Given the description of an element on the screen output the (x, y) to click on. 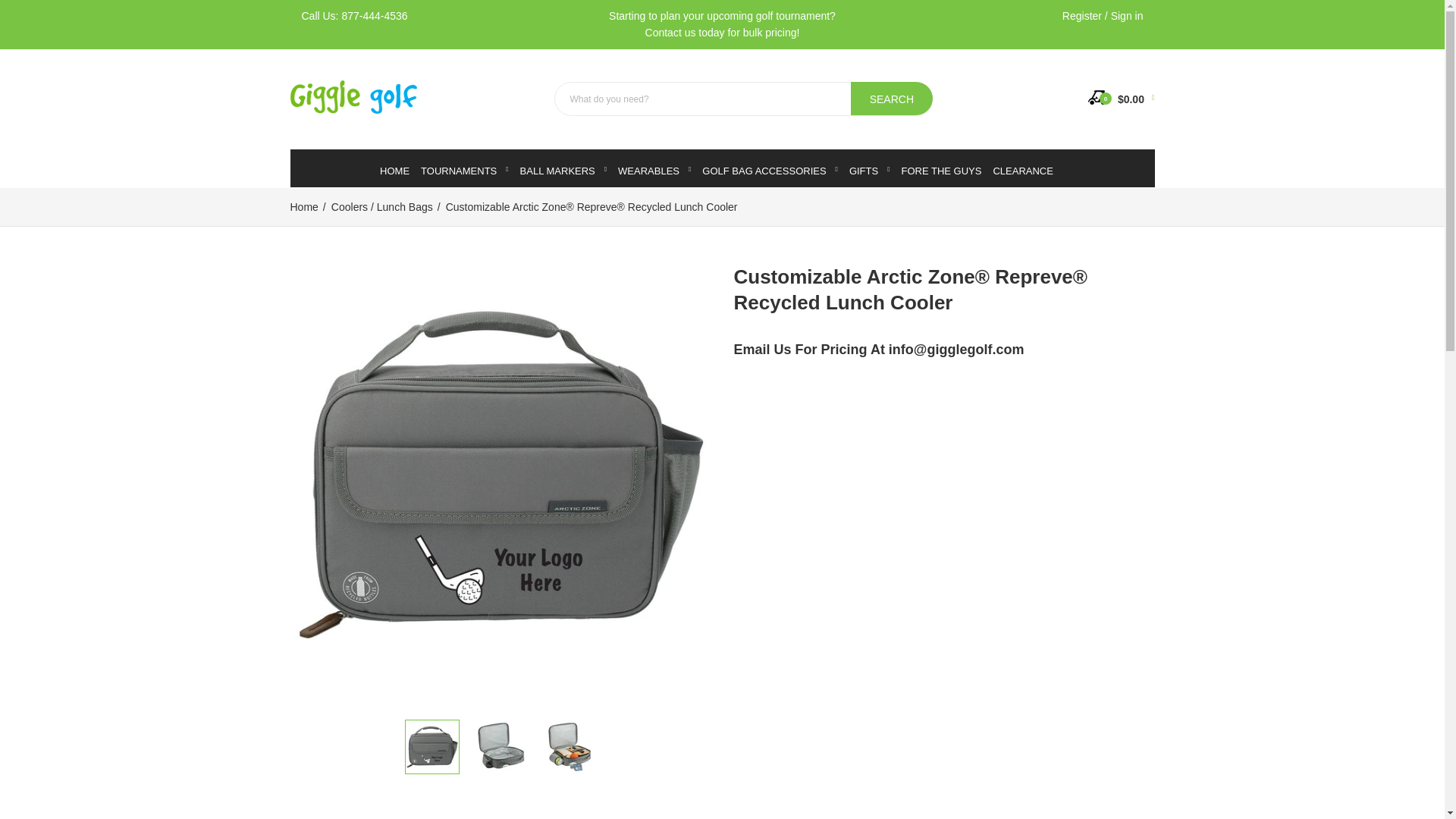
Giggle Golf (352, 110)
Giggle Golf (352, 96)
